Given the description of an element on the screen output the (x, y) to click on. 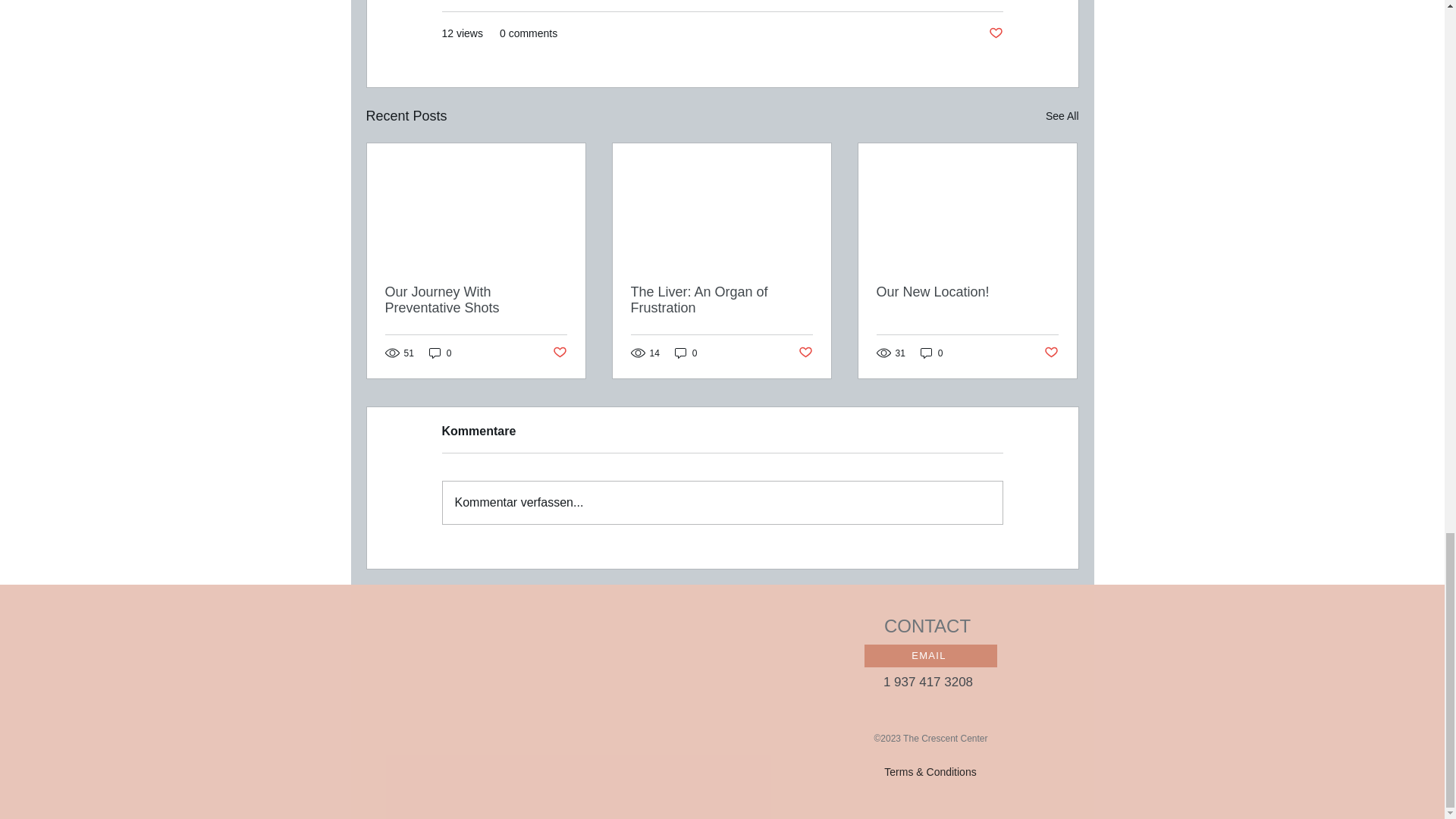
Our Journey With Preventative Shots (476, 300)
0 (440, 352)
Post not marked as liked (558, 352)
See All (1061, 116)
Post not marked as liked (995, 33)
